Given the description of an element on the screen output the (x, y) to click on. 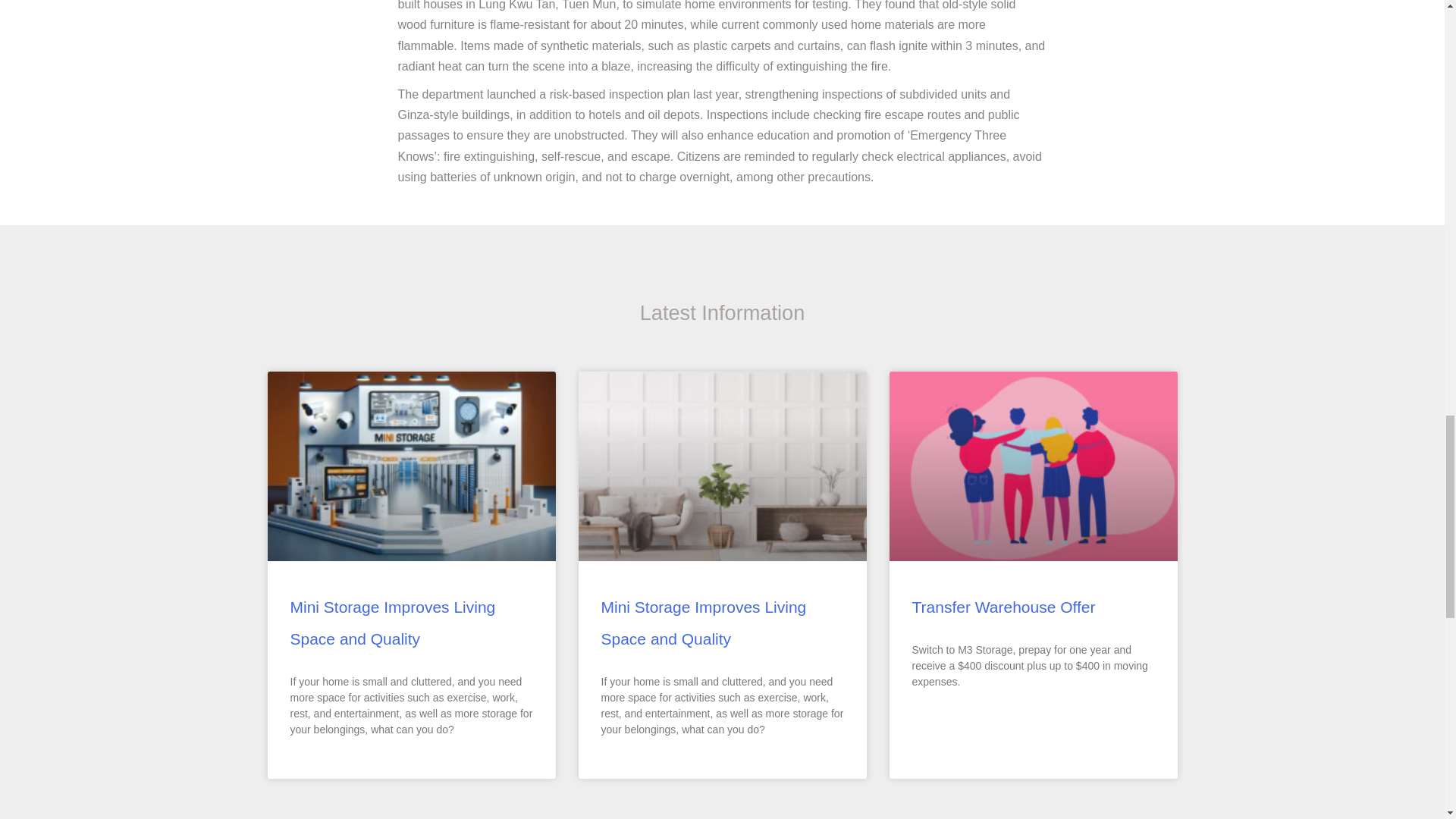
Mini Storage Improves Living Space and Quality (702, 622)
Mini Storage Improves Living Space and Quality (392, 622)
Transfer Warehouse Offer (1002, 606)
